Given the description of an element on the screen output the (x, y) to click on. 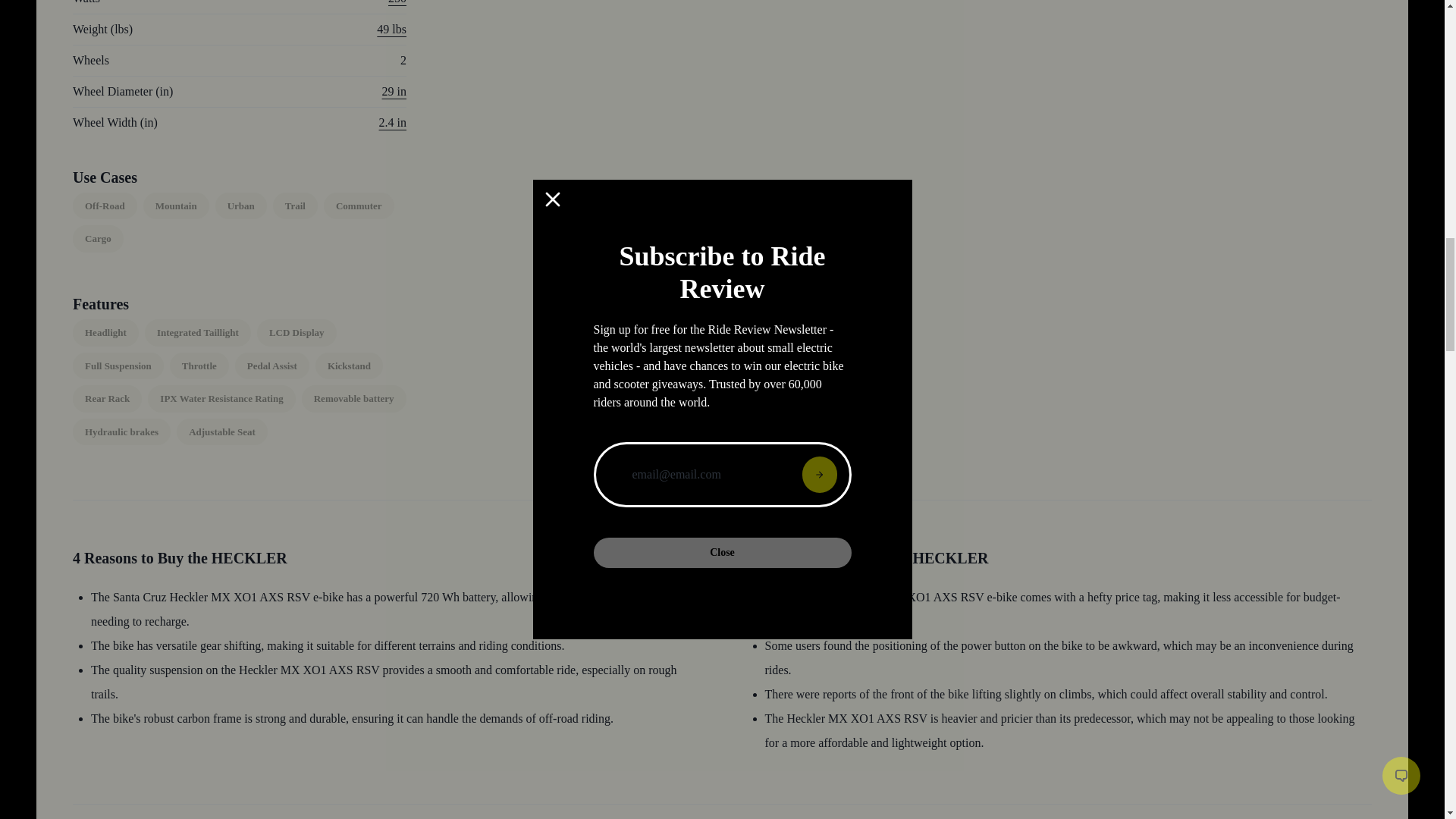
49 lbs (391, 29)
Mountain (175, 206)
Cargo (97, 238)
29 in (393, 91)
Trail (295, 206)
2.4 in (392, 122)
Off-Road (104, 206)
Commuter (358, 206)
Headlight (105, 332)
250 (397, 2)
Integrated Taillight (197, 332)
Urban (240, 206)
